Given the description of an element on the screen output the (x, y) to click on. 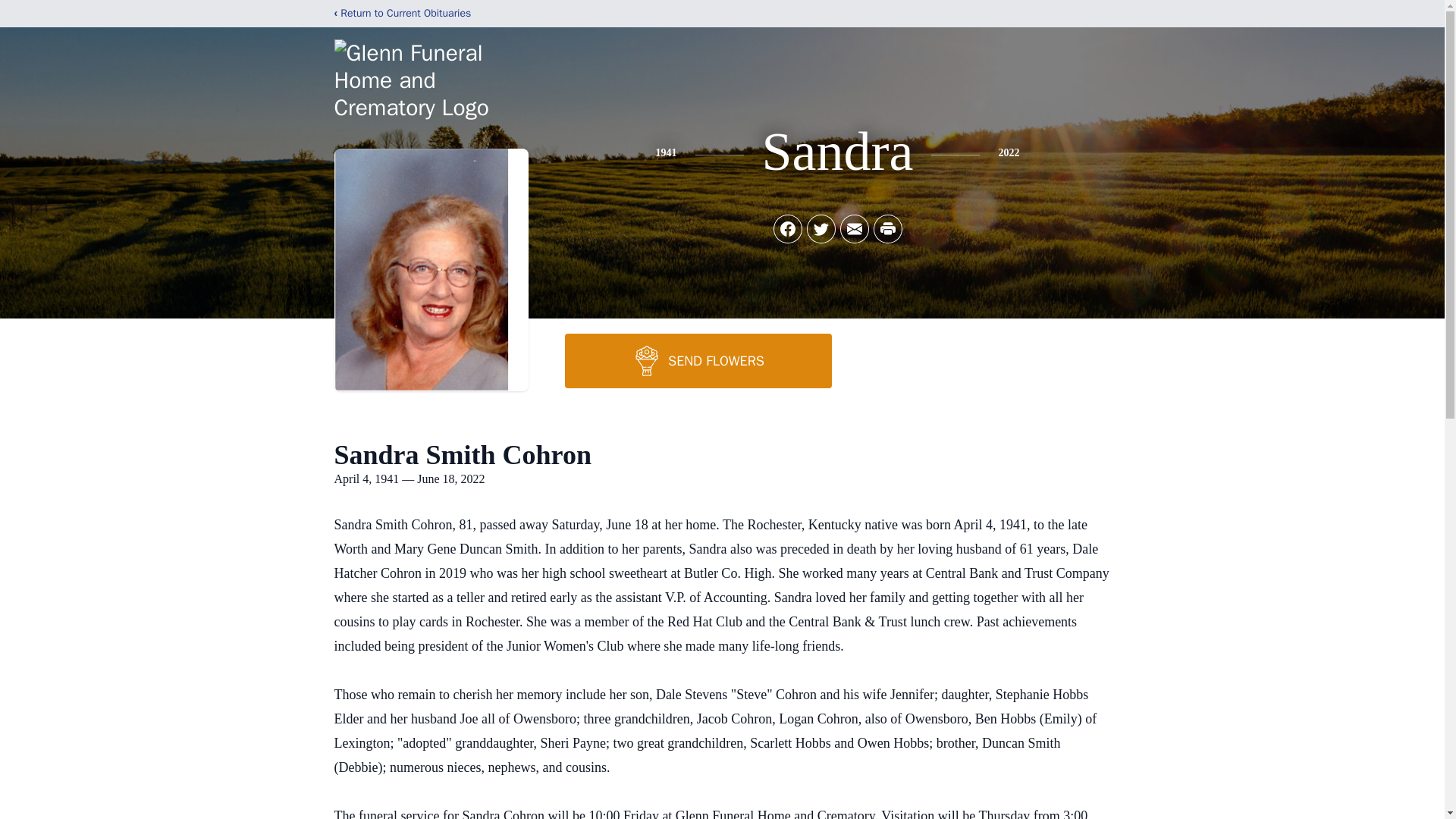
SEND FLOWERS (697, 360)
